Given the description of an element on the screen output the (x, y) to click on. 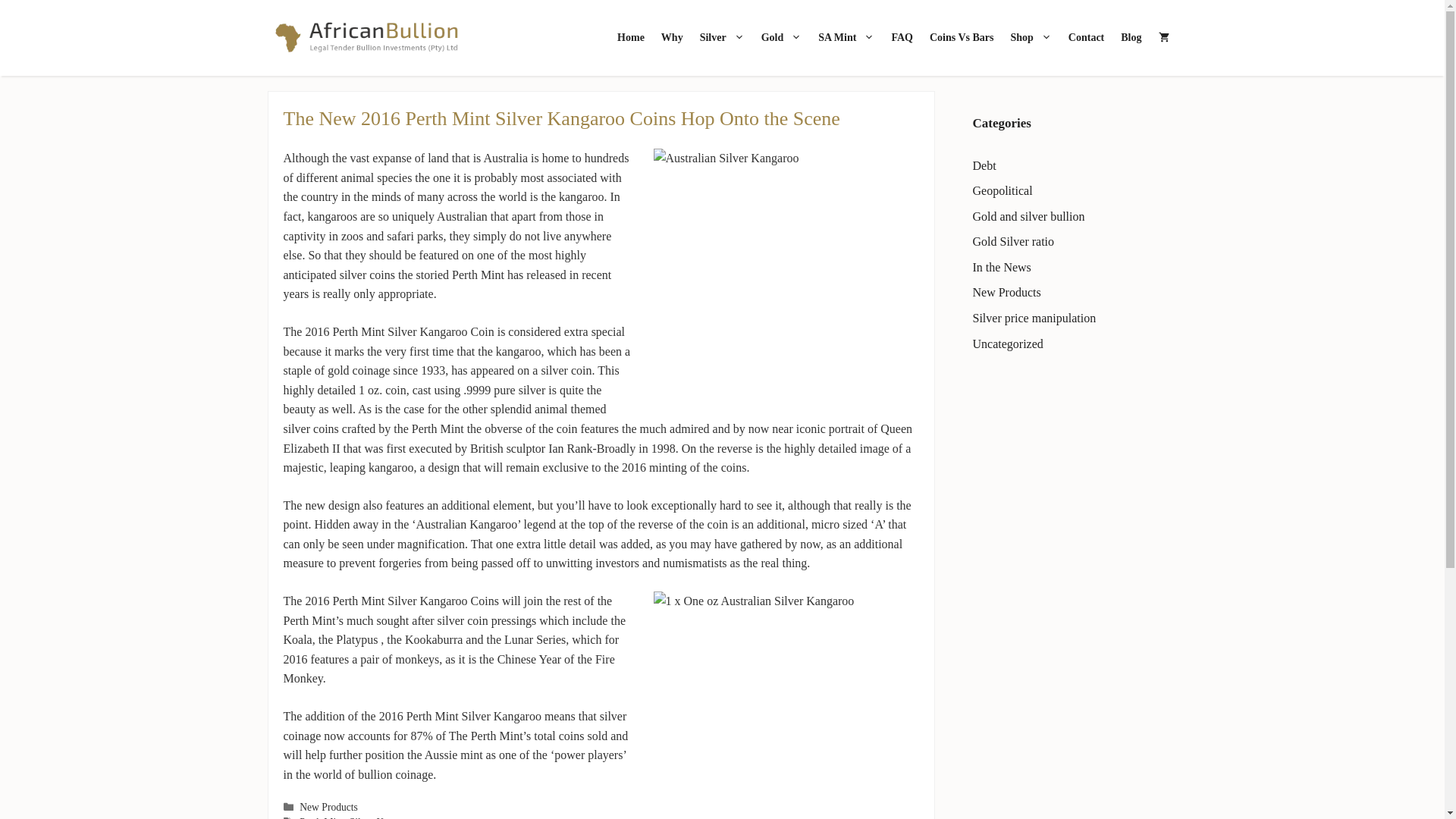
Coins Vs Bars (962, 37)
Gold (781, 37)
Contact (1085, 37)
Silver (721, 37)
Shop (1030, 37)
SA Mint (845, 37)
Home (630, 37)
